Given the description of an element on the screen output the (x, y) to click on. 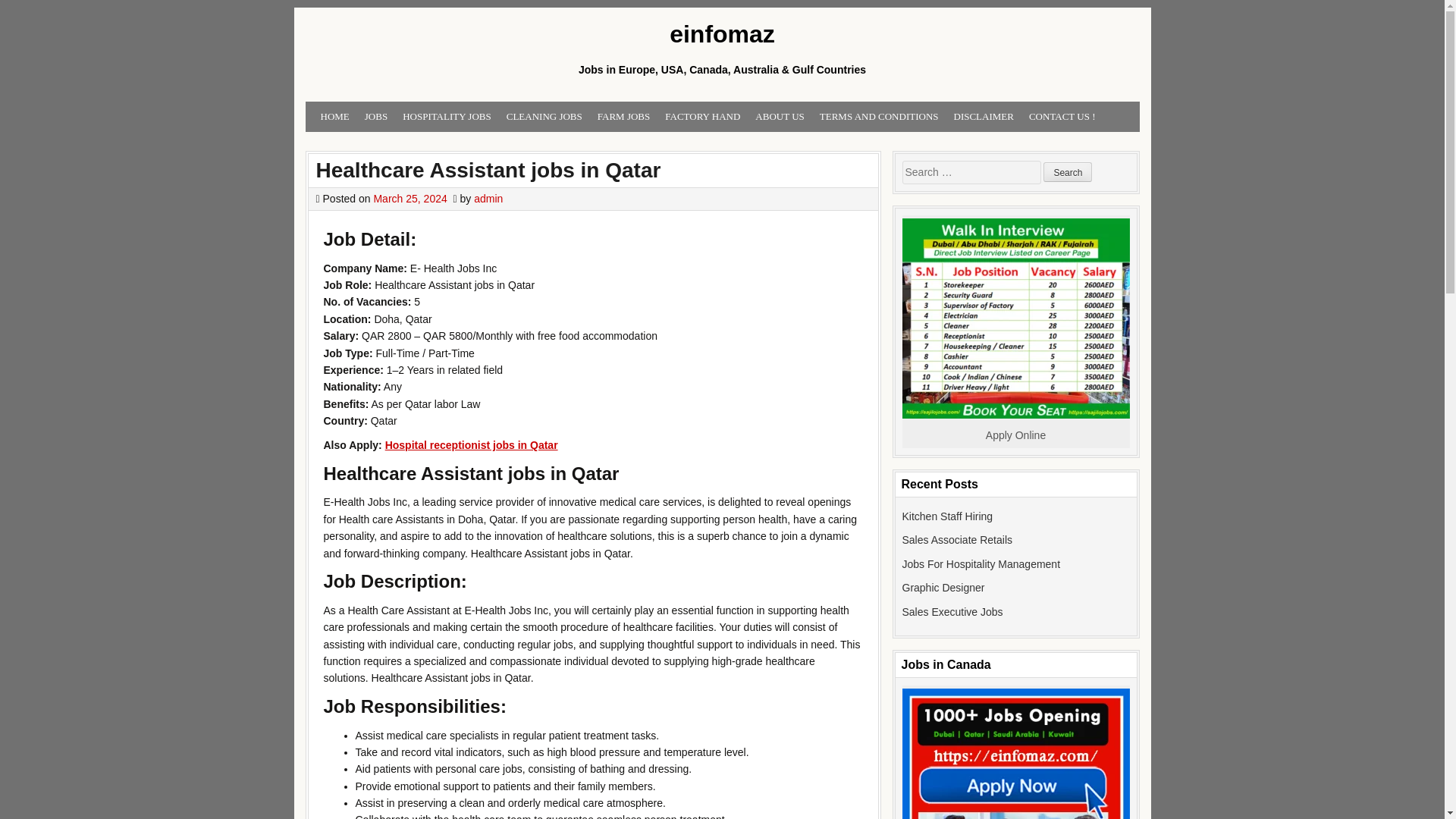
HOME (334, 116)
TERMS AND CONDITIONS (879, 116)
Jobs in Canada (1015, 753)
Sales Associate Retails (957, 539)
Sales Executive Jobs (952, 612)
einfomaz (721, 34)
Search (1067, 171)
ABOUT US (779, 116)
Search (1067, 171)
Healthcare Assistant jobs in Qatar (488, 169)
